Given the description of an element on the screen output the (x, y) to click on. 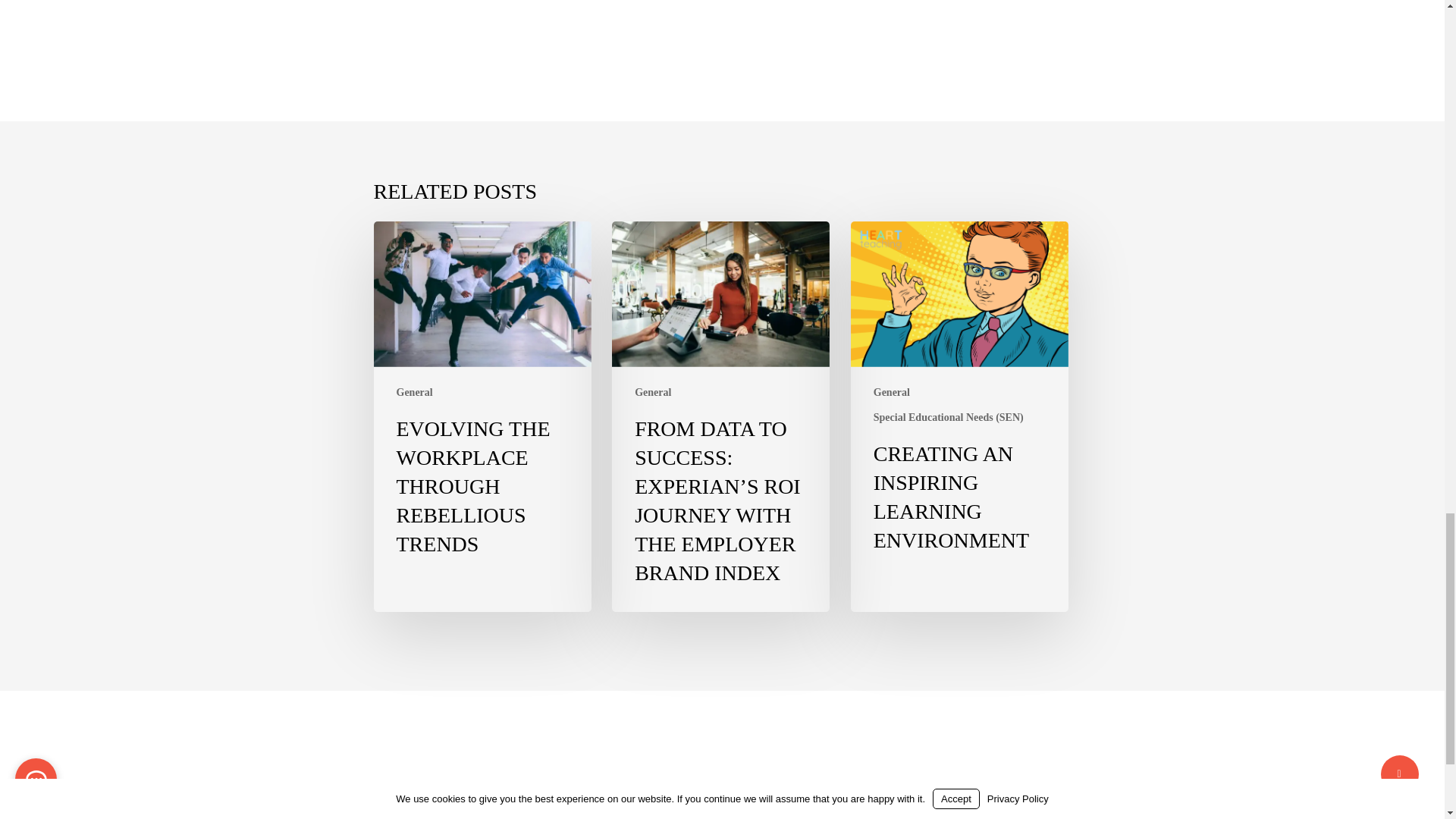
General (414, 391)
General (891, 391)
General (652, 391)
